Given the description of an element on the screen output the (x, y) to click on. 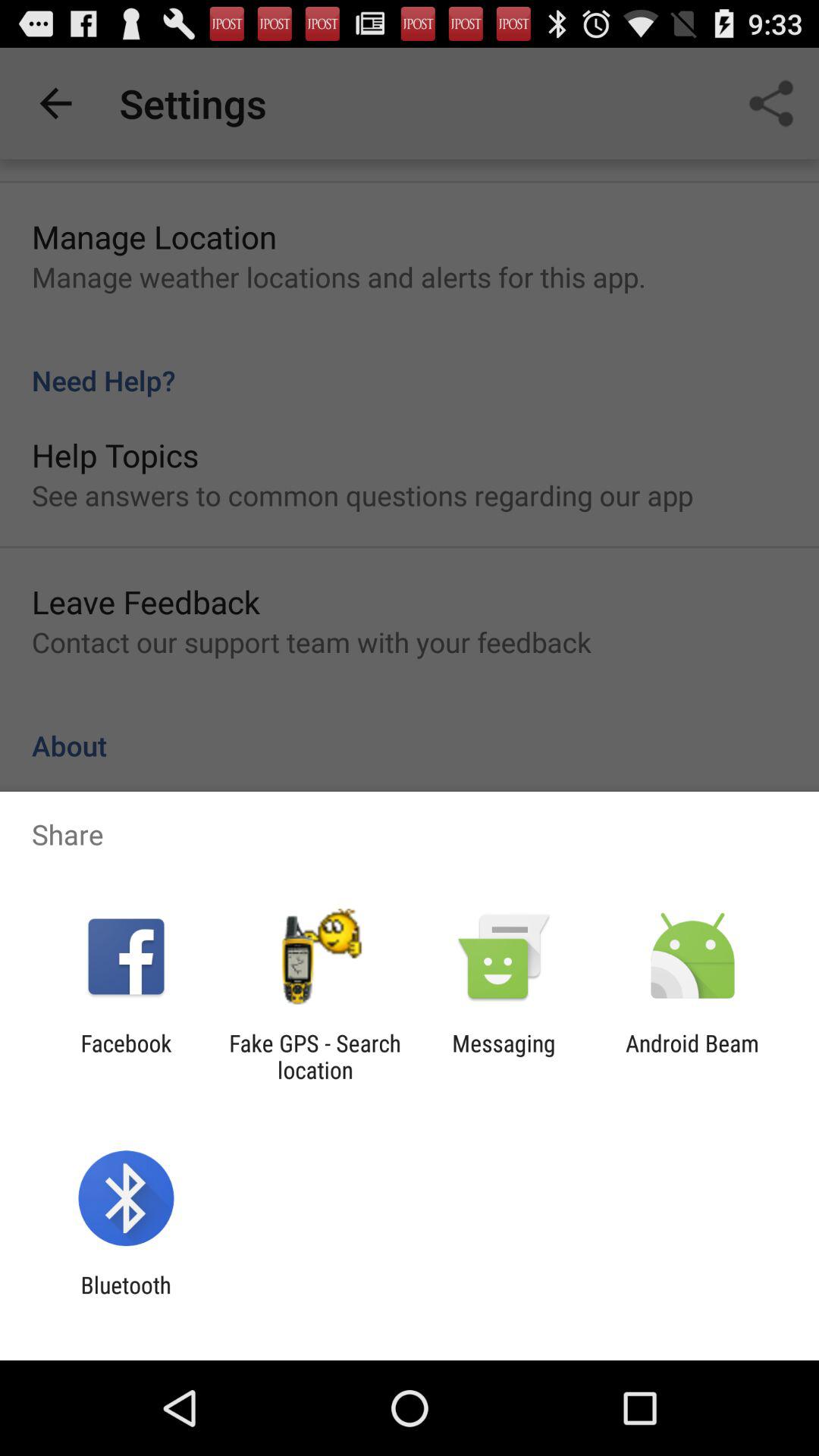
tap the android beam at the bottom right corner (692, 1056)
